Given the description of an element on the screen output the (x, y) to click on. 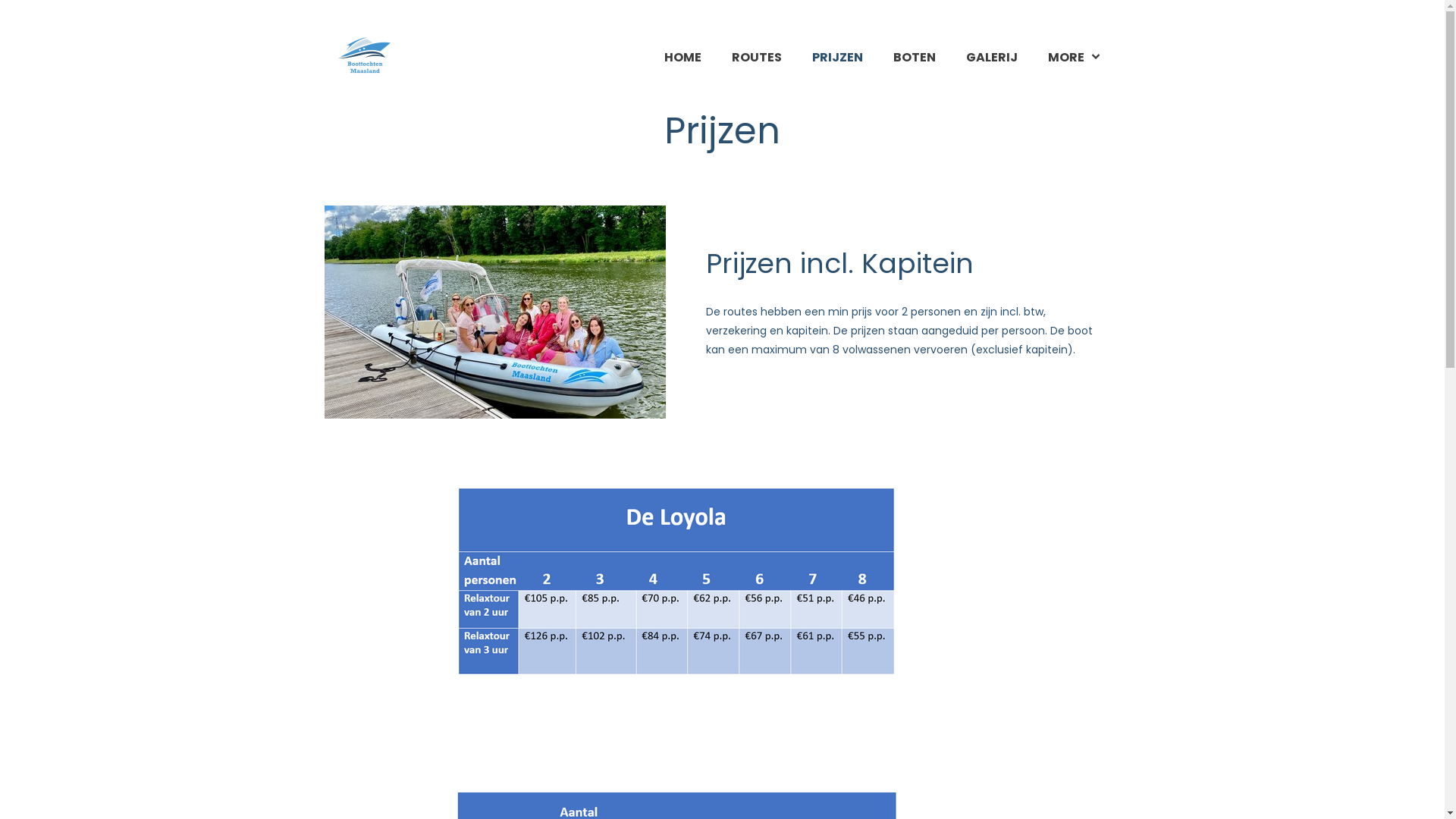
HOME Element type: text (682, 57)
ROUTES Element type: text (756, 57)
GALERIJ Element type: text (991, 57)
BOTEN Element type: text (914, 57)
MORE Element type: text (1075, 57)
PRIJZEN Element type: text (837, 57)
